Given the description of an element on the screen output the (x, y) to click on. 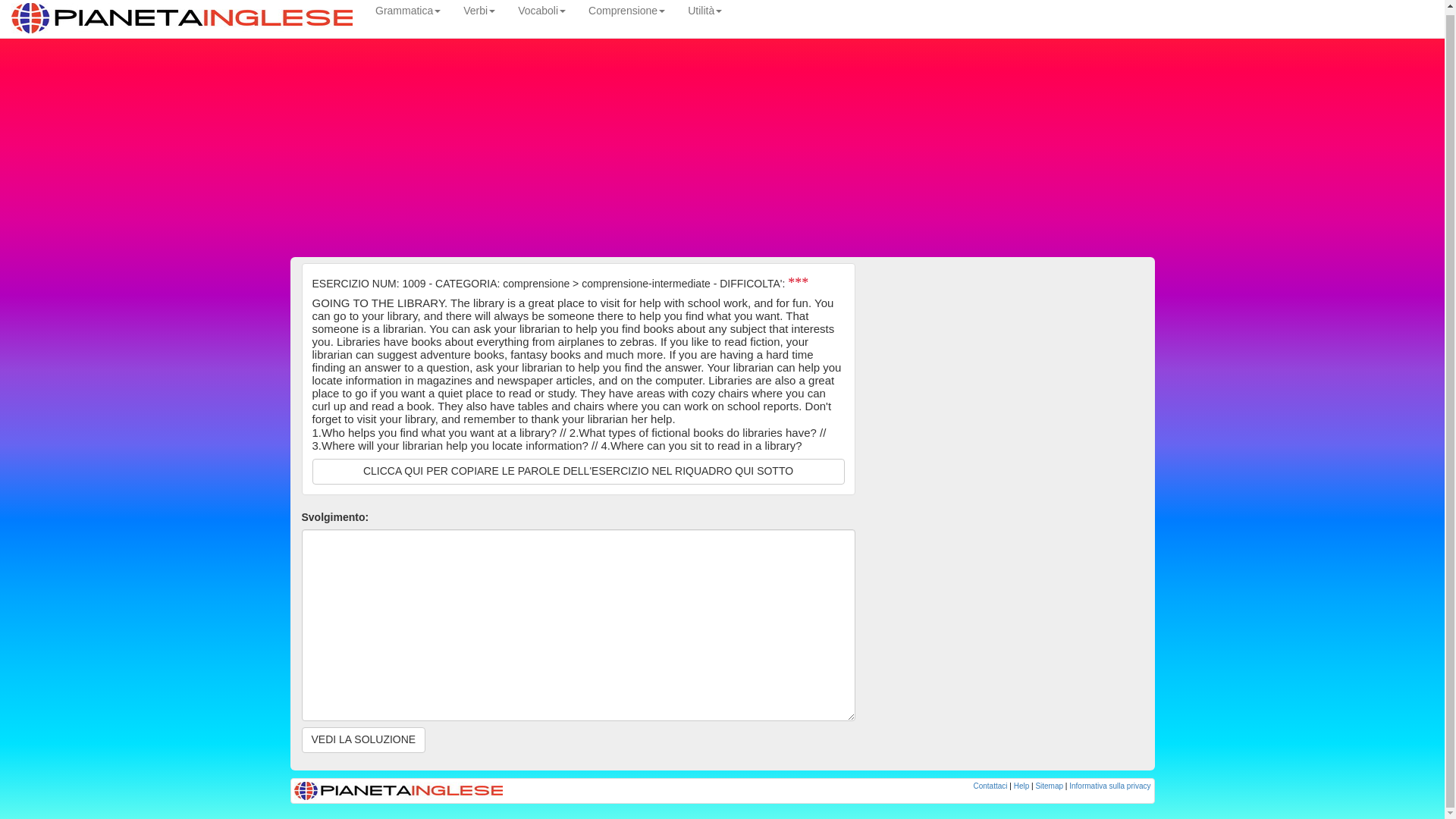
Advertisement (1009, 368)
Advertisement (1009, 596)
Grammatica (407, 7)
Verbi (478, 7)
